Given the description of an element on the screen output the (x, y) to click on. 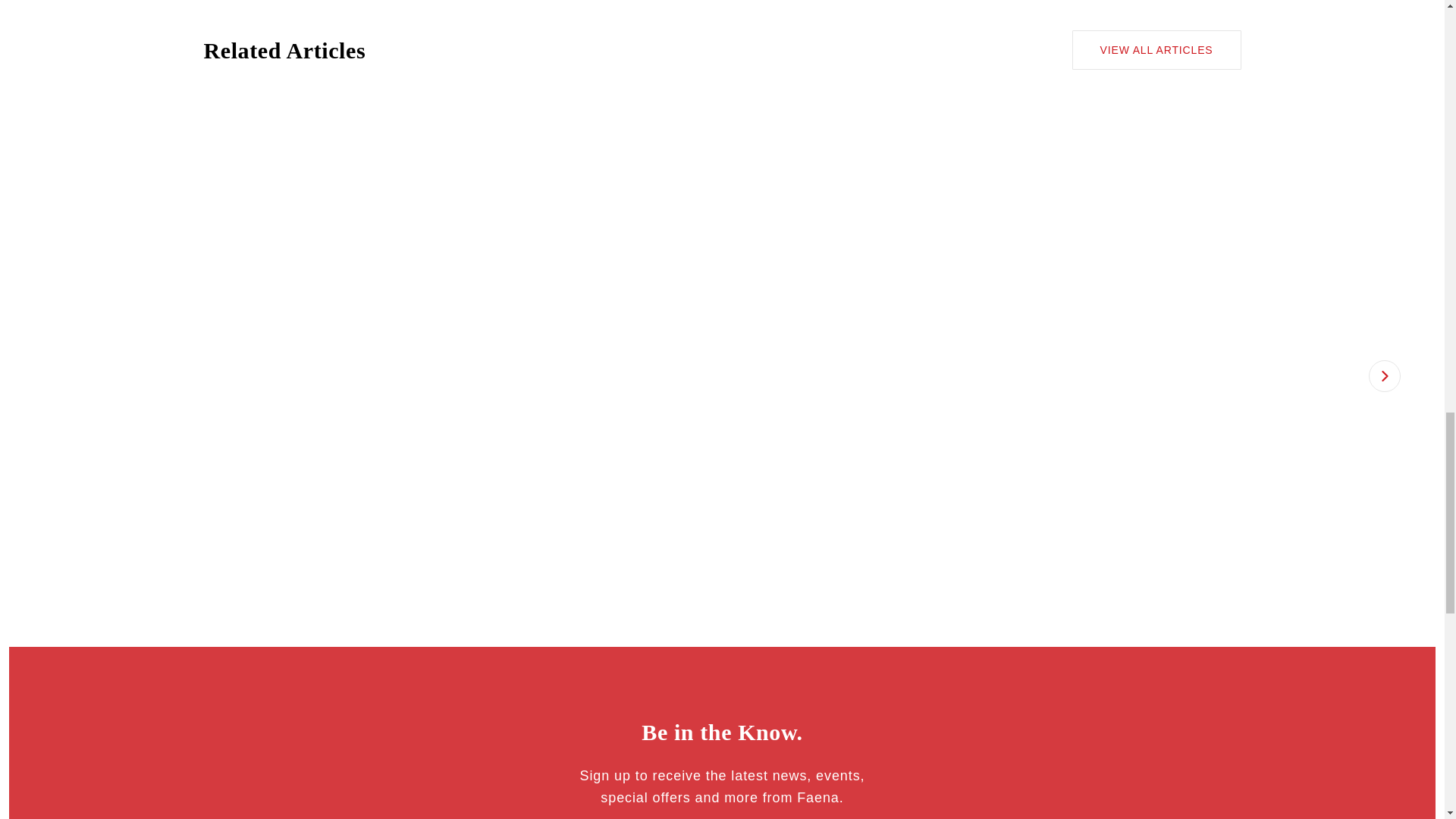
next (1383, 375)
VIEW ALL ARTICLES (1156, 49)
